Given the description of an element on the screen output the (x, y) to click on. 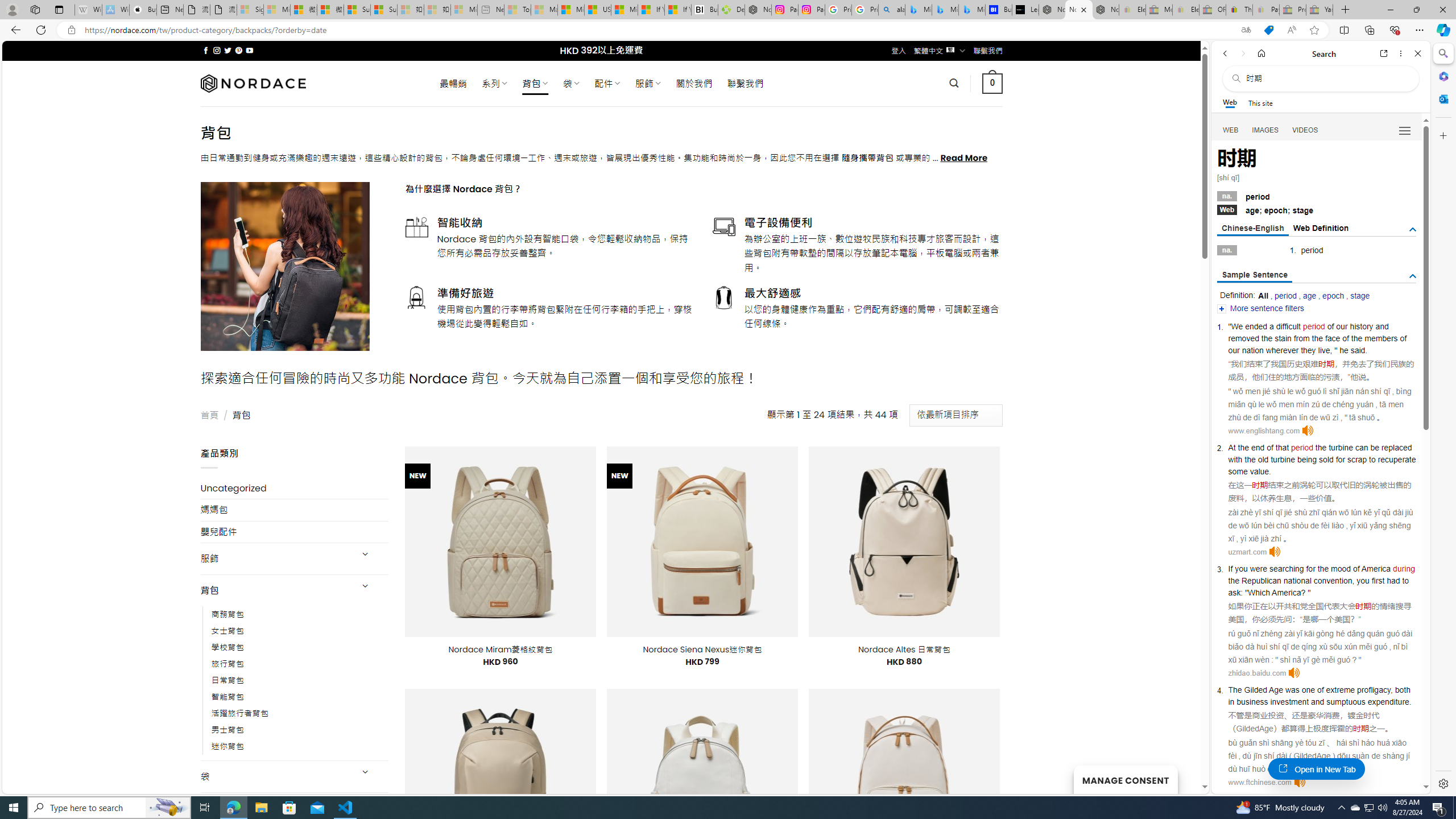
Uncategorized (294, 488)
, (1391, 689)
Microsoft Services Agreement - Sleeping (277, 9)
Uncategorized (294, 488)
